Given the description of an element on the screen output the (x, y) to click on. 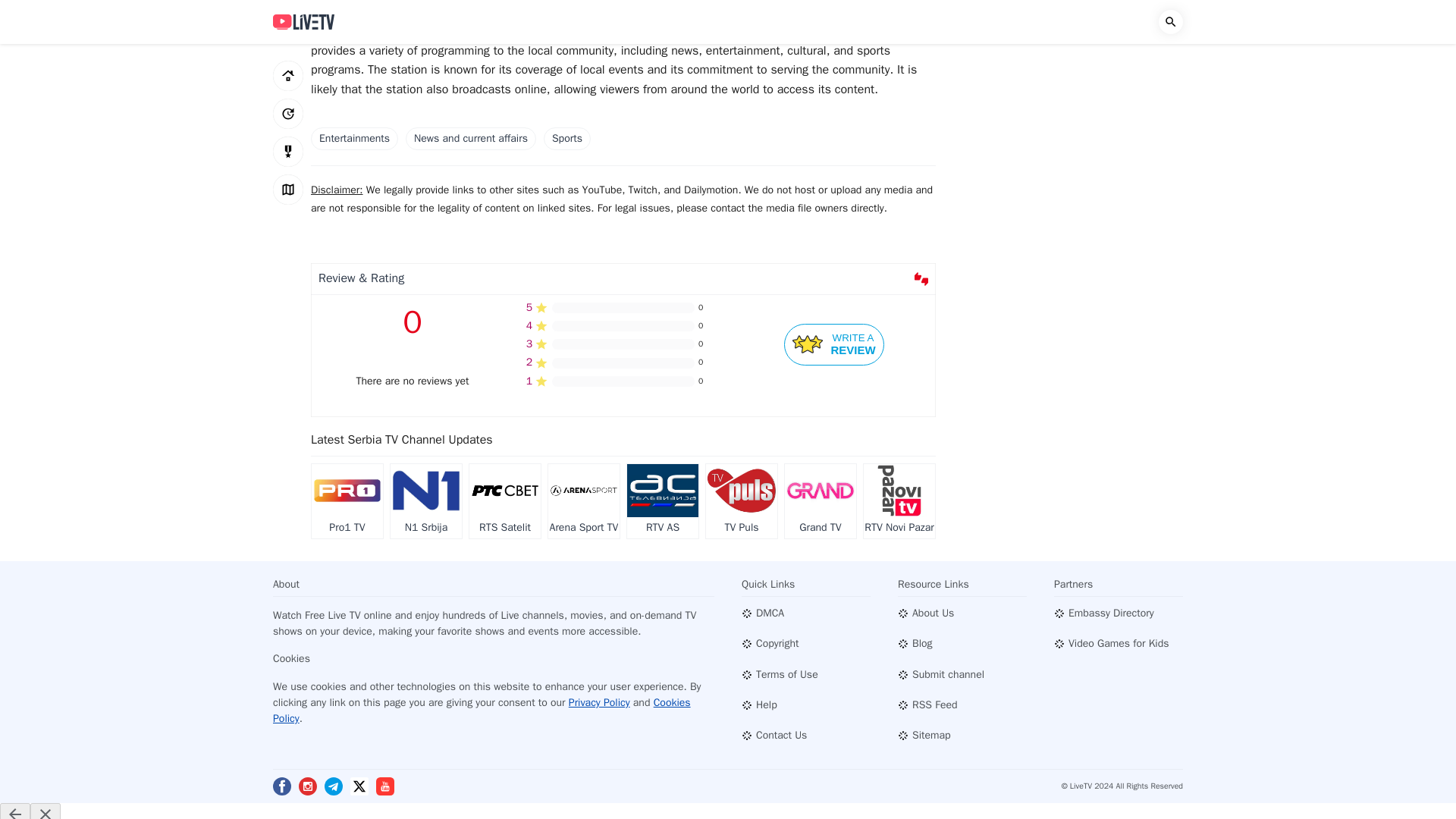
News and current affairs (470, 138)
TV Puls (741, 501)
RTS Satelit (504, 501)
N1 Srbija (425, 501)
RTV Novi Pazar (898, 501)
Sports (567, 138)
Entertainments (354, 138)
RTV AS (833, 344)
Grand TV (662, 501)
